Given the description of an element on the screen output the (x, y) to click on. 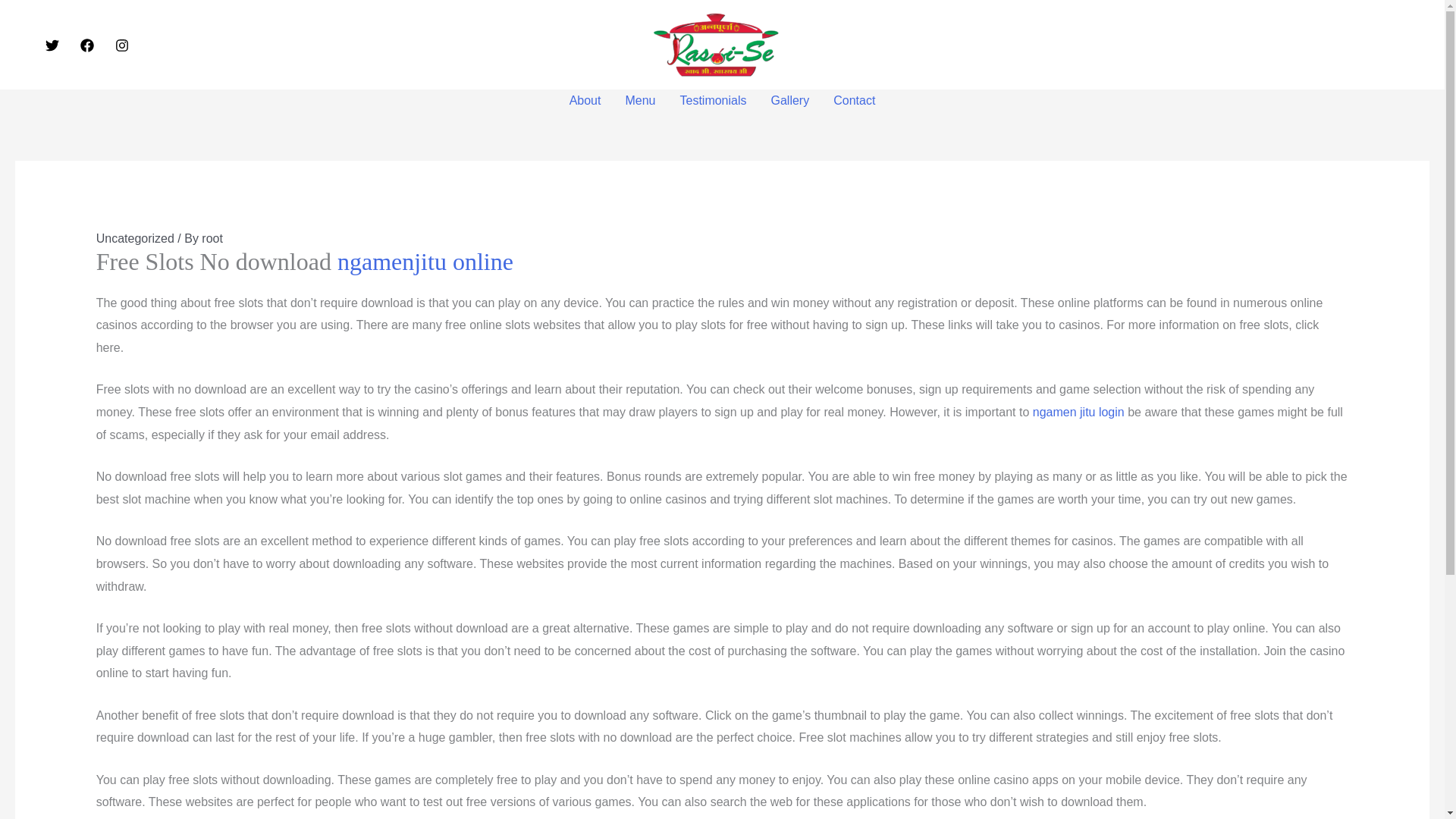
Gallery (790, 100)
Testimonials (712, 100)
View all posts by root (212, 237)
ngamen jitu login (1078, 411)
Menu (639, 100)
About (584, 100)
Uncategorized (135, 237)
ngamenjitu online (425, 261)
root (212, 237)
Contact (853, 100)
